Given the description of an element on the screen output the (x, y) to click on. 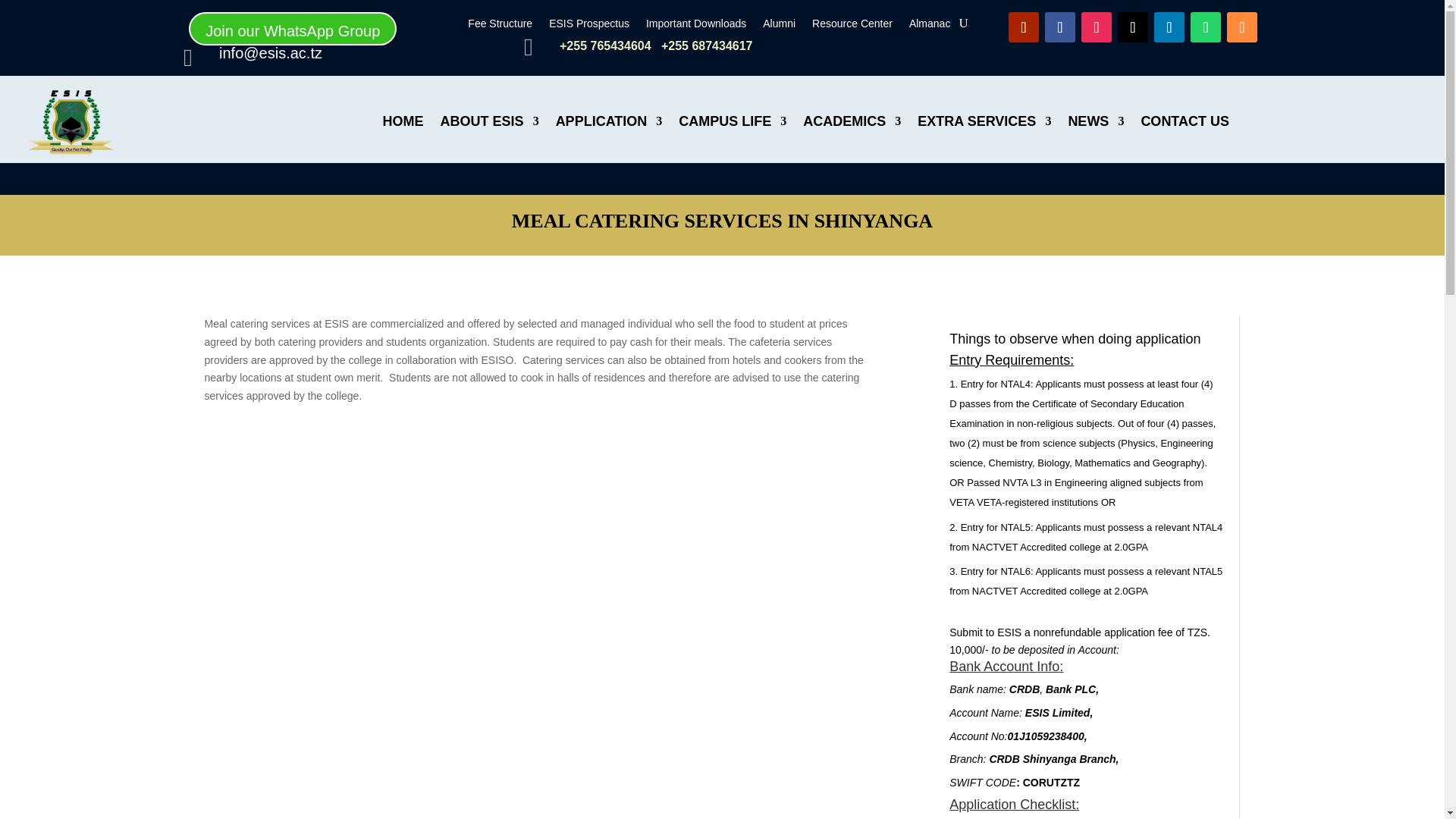
Follow on Youtube (1024, 27)
Follow on Instagram (1096, 27)
Alumni (778, 26)
Important Downloads (695, 26)
Fee Structure (499, 26)
CAMPUS LIFE (732, 121)
Follow on X (1133, 27)
Resource Center (852, 26)
ESIS Prospectus (588, 26)
Follow on LinkedIn (1169, 27)
Almanac (929, 26)
Follow on RSS (1242, 27)
Follow on Facebook (1060, 27)
ABOUT ESIS (489, 121)
Join our WhatsApp Group (292, 28)
